Given the description of an element on the screen output the (x, y) to click on. 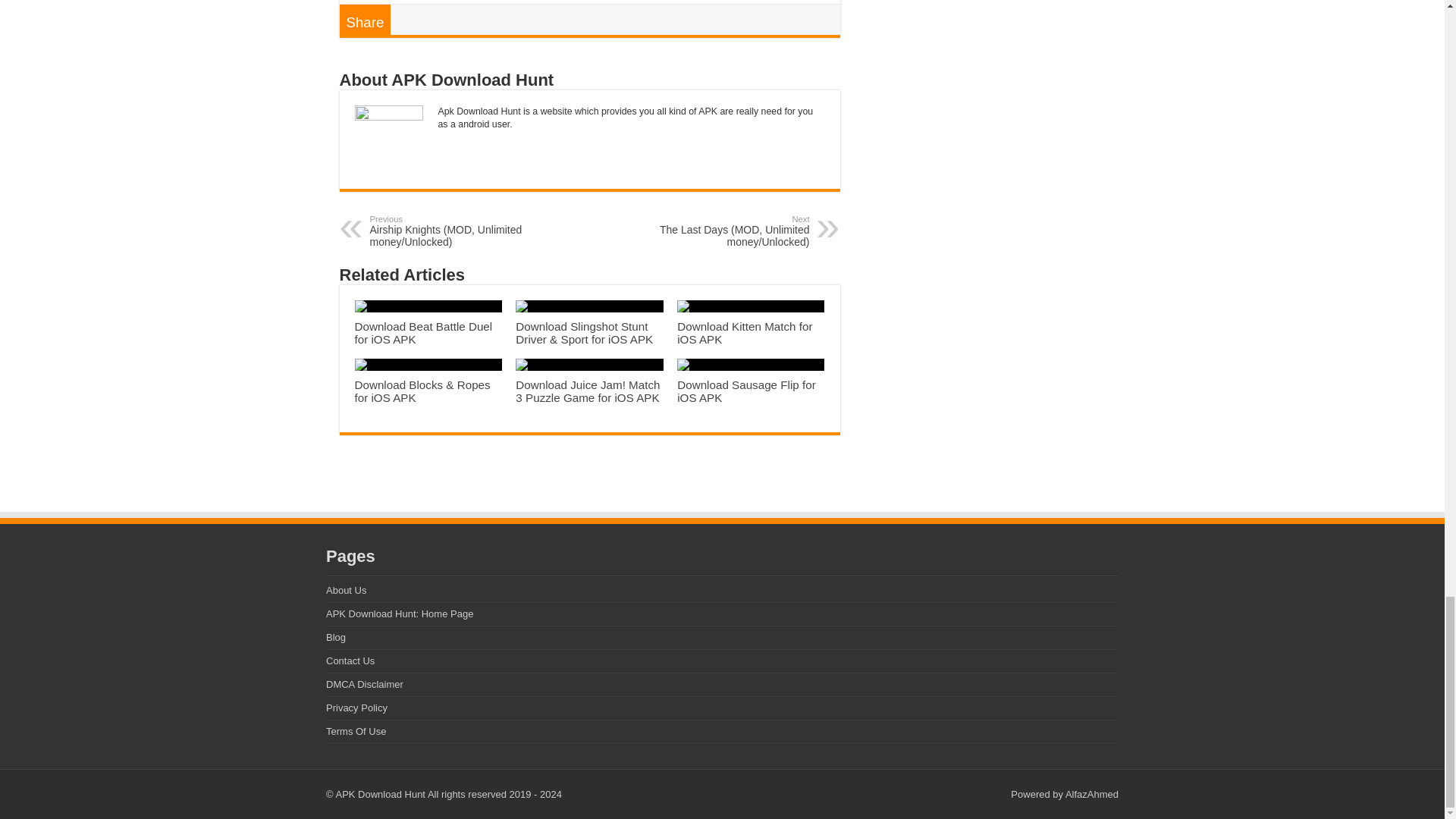
About Us (346, 590)
Download Juice Jam! Match 3 Puzzle Game for iOS APK (587, 391)
Download Beat Battle Duel for iOS APK (424, 332)
Download Kitten Match for iOS APK (744, 332)
Download Sausage Flip for iOS APK (746, 391)
